Given the description of an element on the screen output the (x, y) to click on. 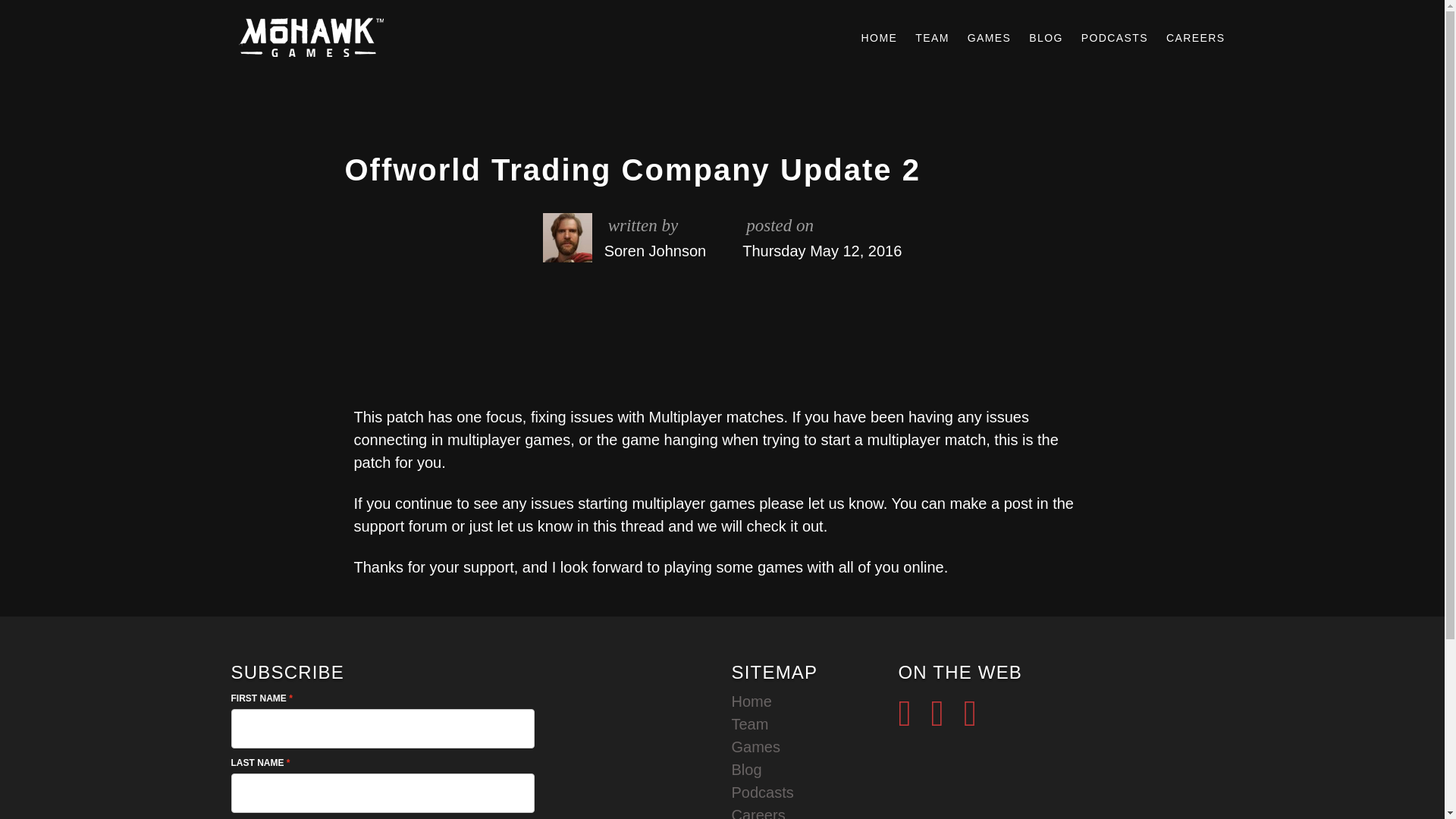
Careers (757, 812)
GAMES (989, 37)
Home (750, 701)
TEAM (931, 37)
Team (749, 723)
MOHAWK GAMES (308, 38)
BLOG (1045, 37)
Podcasts (761, 791)
Games (754, 746)
CAREERS (1195, 37)
PODCASTS (1114, 37)
Blog (745, 769)
HOME (879, 37)
